Given the description of an element on the screen output the (x, y) to click on. 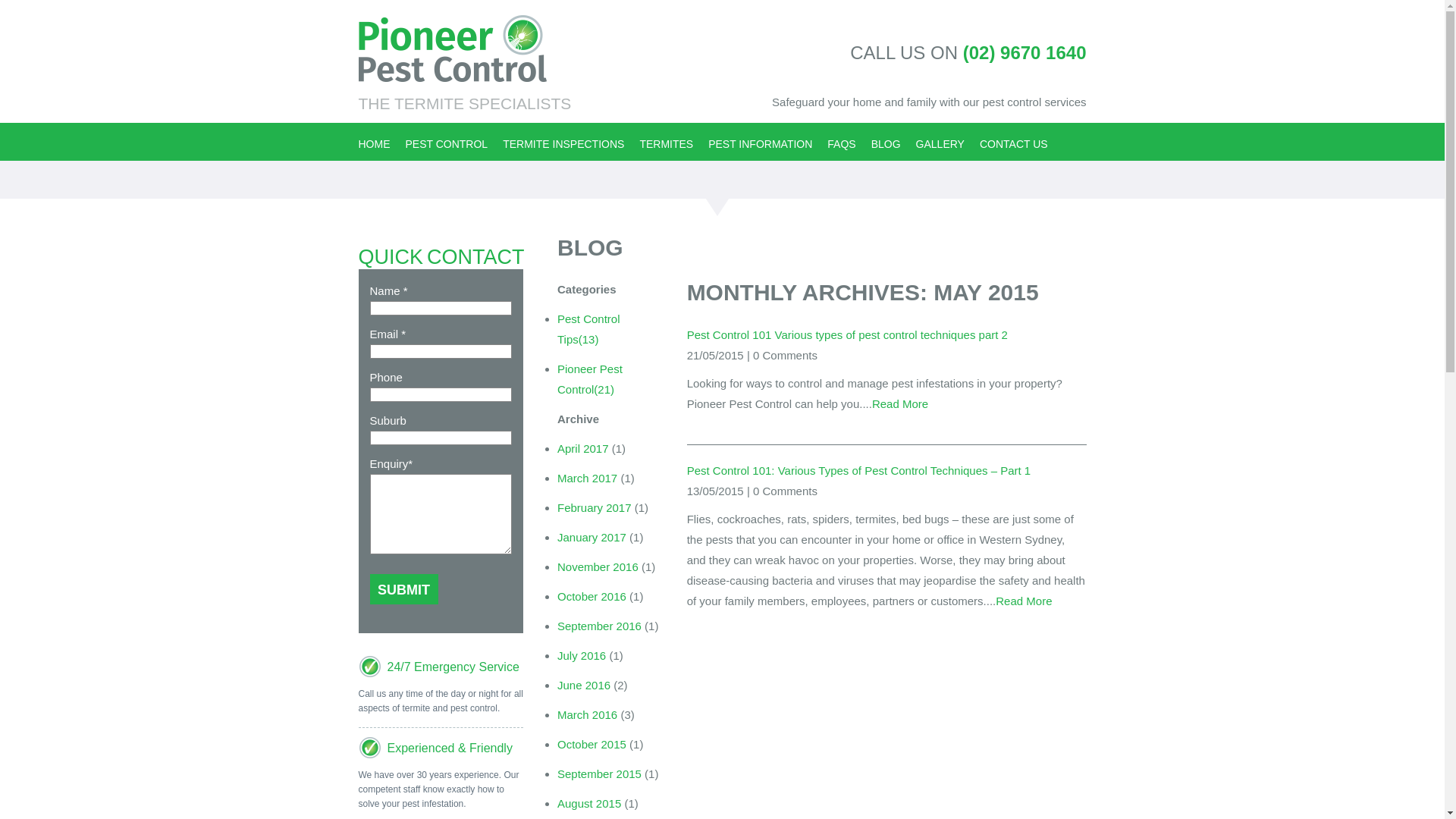
August 2015 (589, 802)
HOME (374, 138)
October 2016 (591, 595)
CONTACT US (1013, 138)
September 2015 (599, 773)
TERMITES (666, 138)
June 2016 (583, 684)
November 2016 (598, 566)
March 2017 (587, 477)
March 2016 (587, 714)
February 2017 (594, 507)
September 2016 (599, 625)
submit (403, 589)
